Given the description of an element on the screen output the (x, y) to click on. 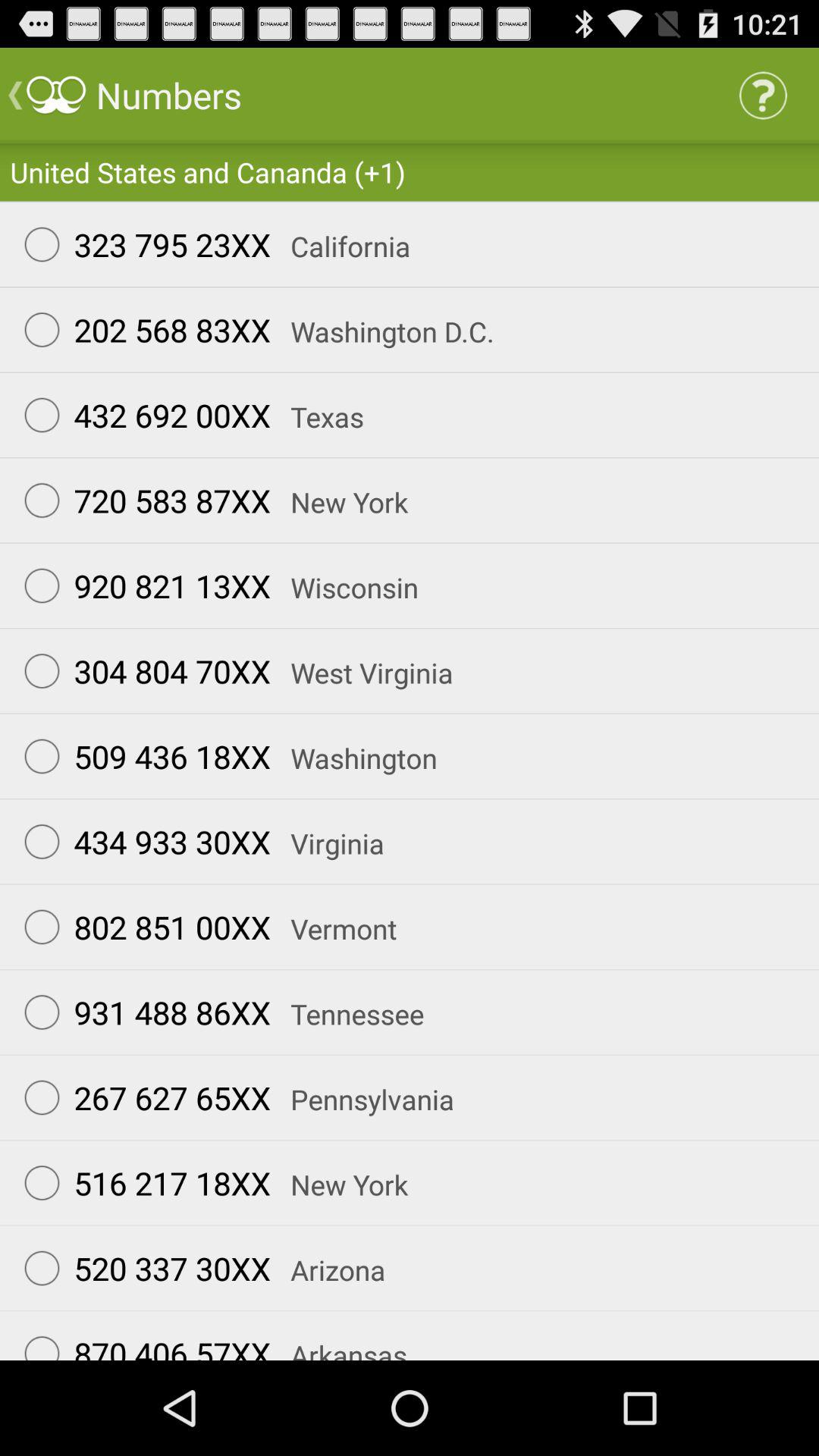
turn off the app next to washington icon (140, 756)
